Given the description of an element on the screen output the (x, y) to click on. 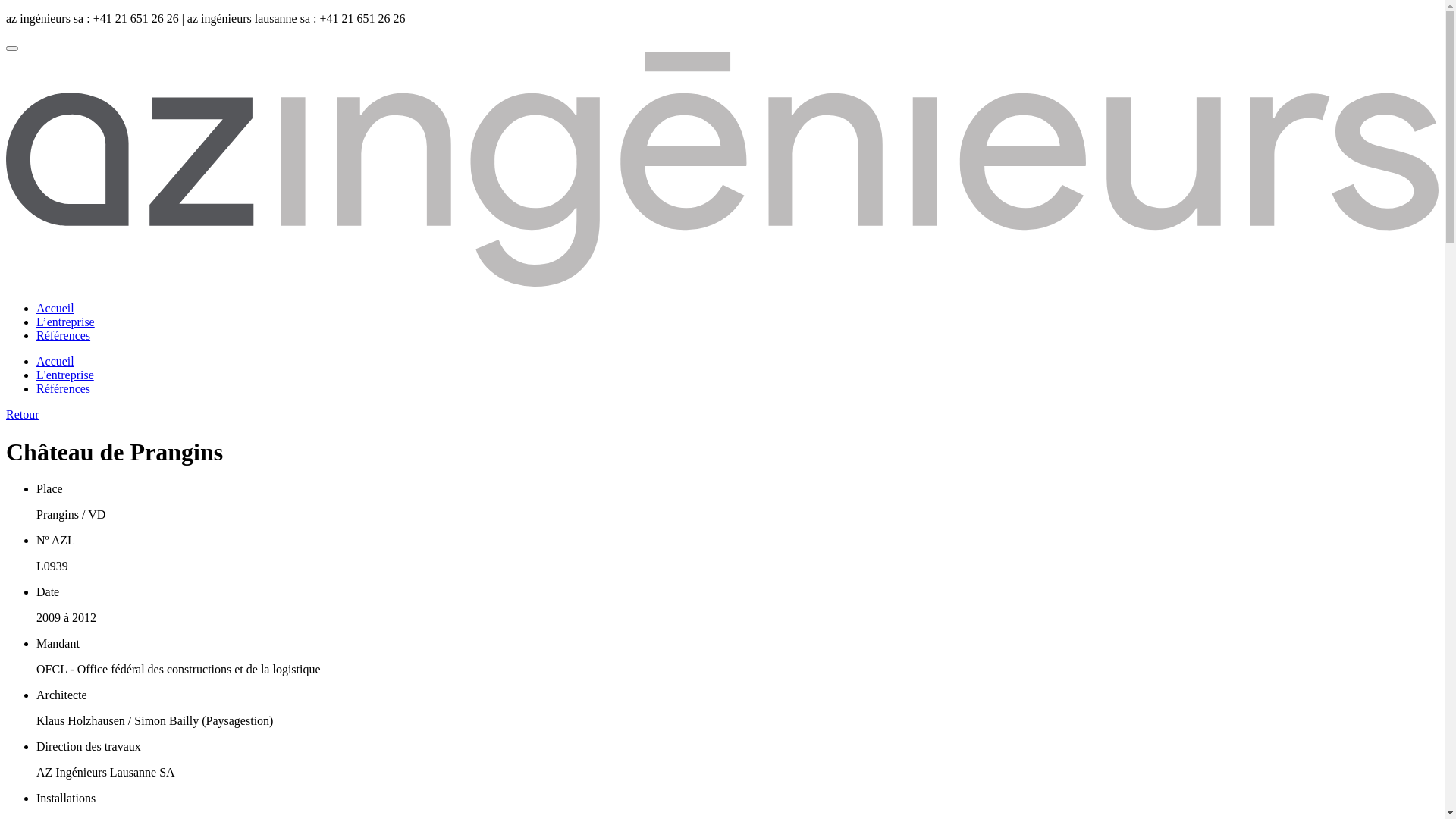
Retour Element type: text (22, 413)
Accueil Element type: text (55, 360)
L'entreprise Element type: text (65, 374)
Accueil Element type: text (55, 307)
